Given the description of an element on the screen output the (x, y) to click on. 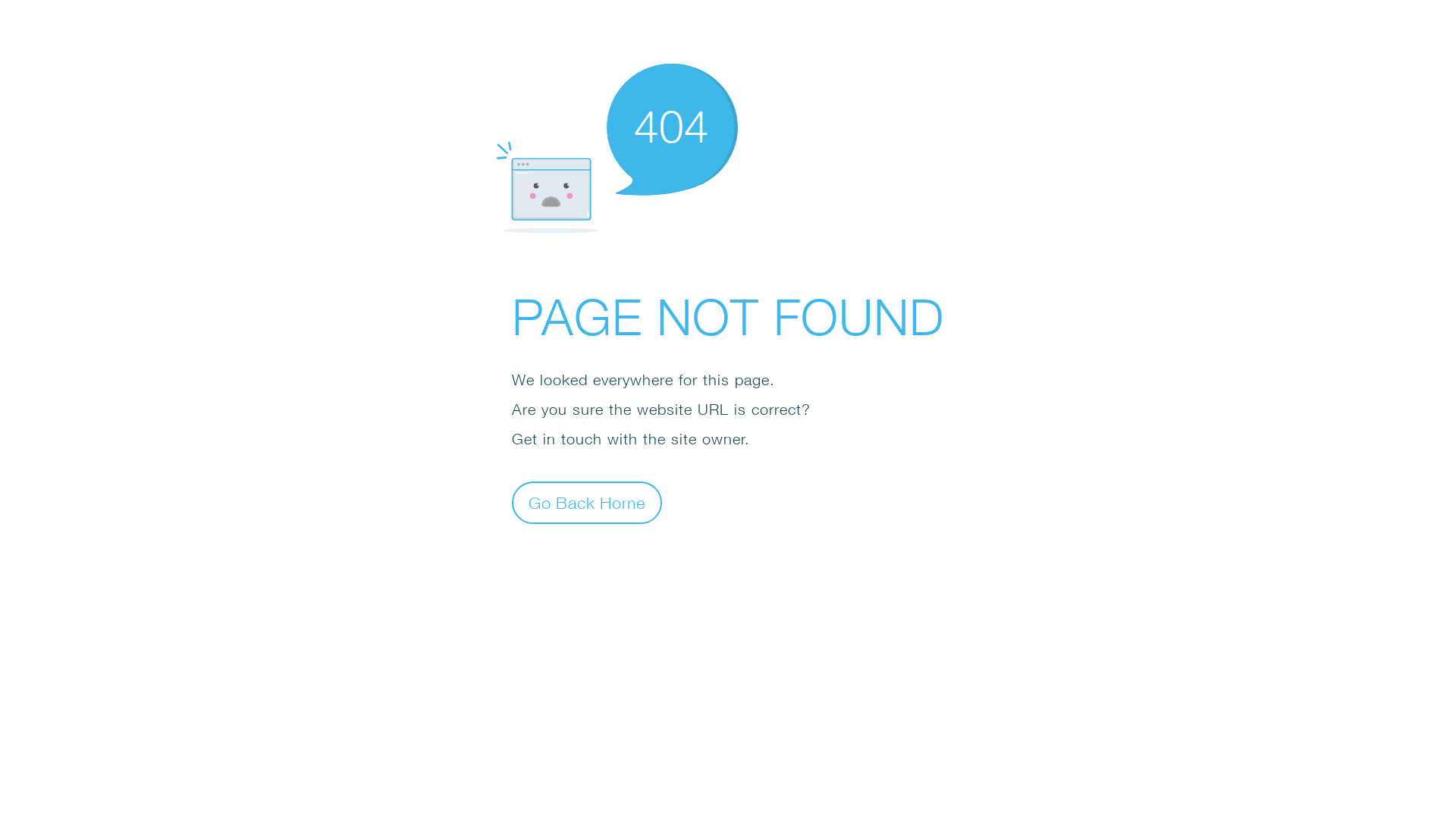
Go Back Home Element type: text (586, 502)
